Given the description of an element on the screen output the (x, y) to click on. 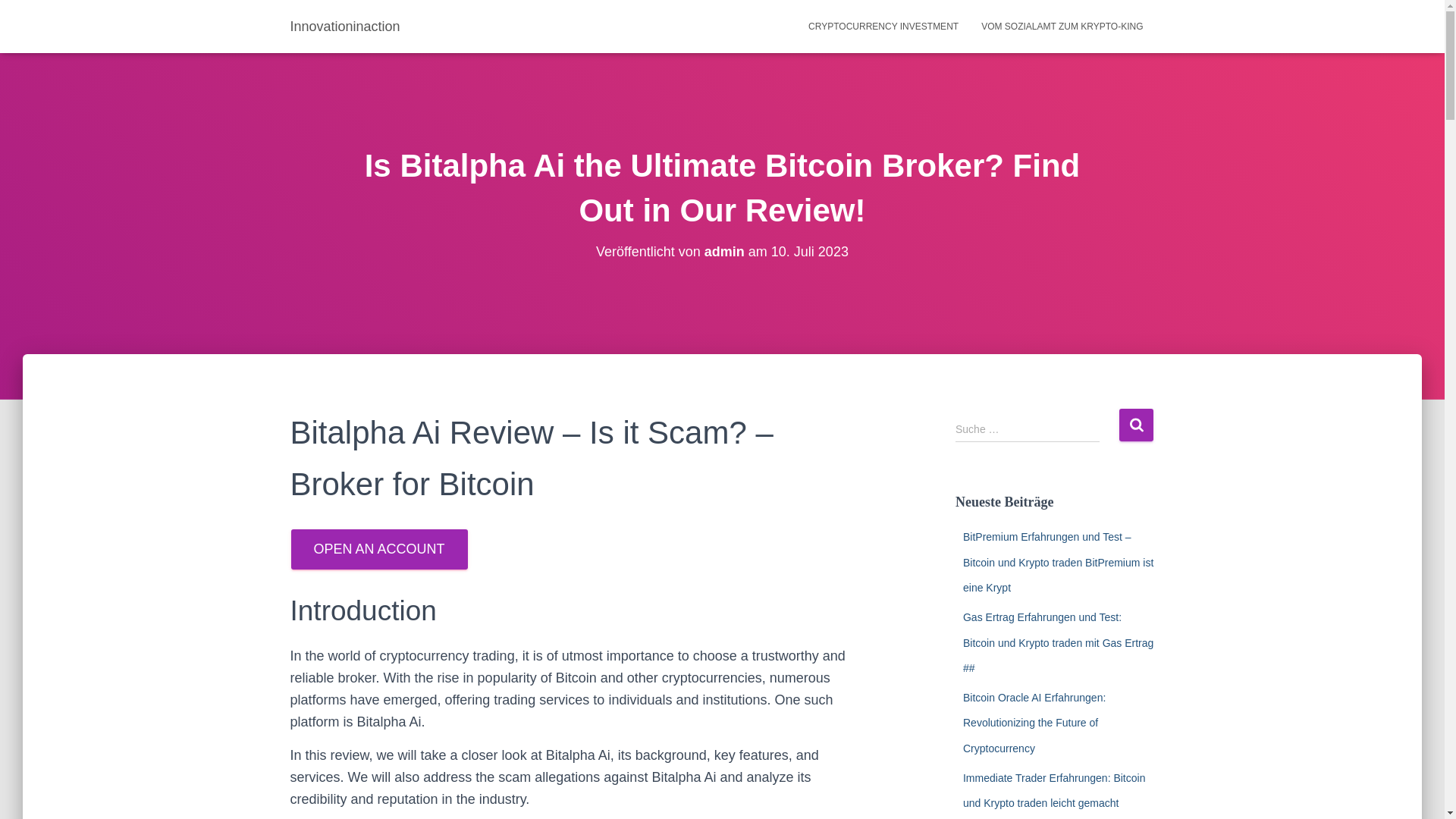
CRYPTOCURRENCY INVESTMENT (882, 26)
OPEN AN ACCOUNT (379, 549)
admin (724, 251)
Suche (1136, 424)
Innovationinaction (345, 26)
Innovationinaction (345, 26)
Vom Sozialamt zum Krypto-King (1061, 26)
Suche (1136, 424)
VOM SOZIALAMT ZUM KRYPTO-KING (1061, 26)
OPEN AN ACCOUNT (378, 548)
Suche (1136, 424)
Cryptocurrency Investment (882, 26)
